Given the description of an element on the screen output the (x, y) to click on. 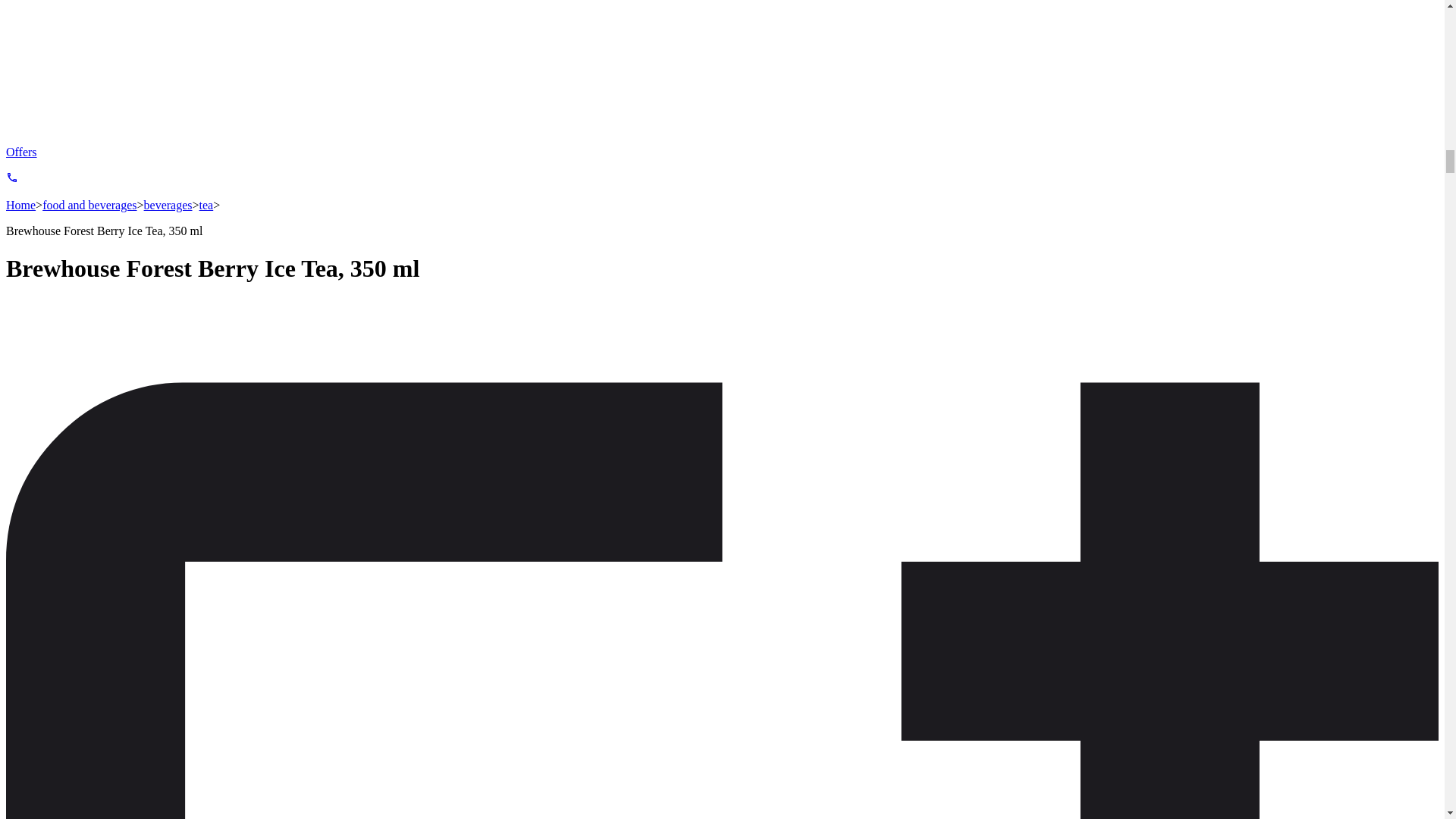
food and beverages (89, 205)
Home (19, 205)
beverages (168, 205)
tea (206, 205)
